Given the description of an element on the screen output the (x, y) to click on. 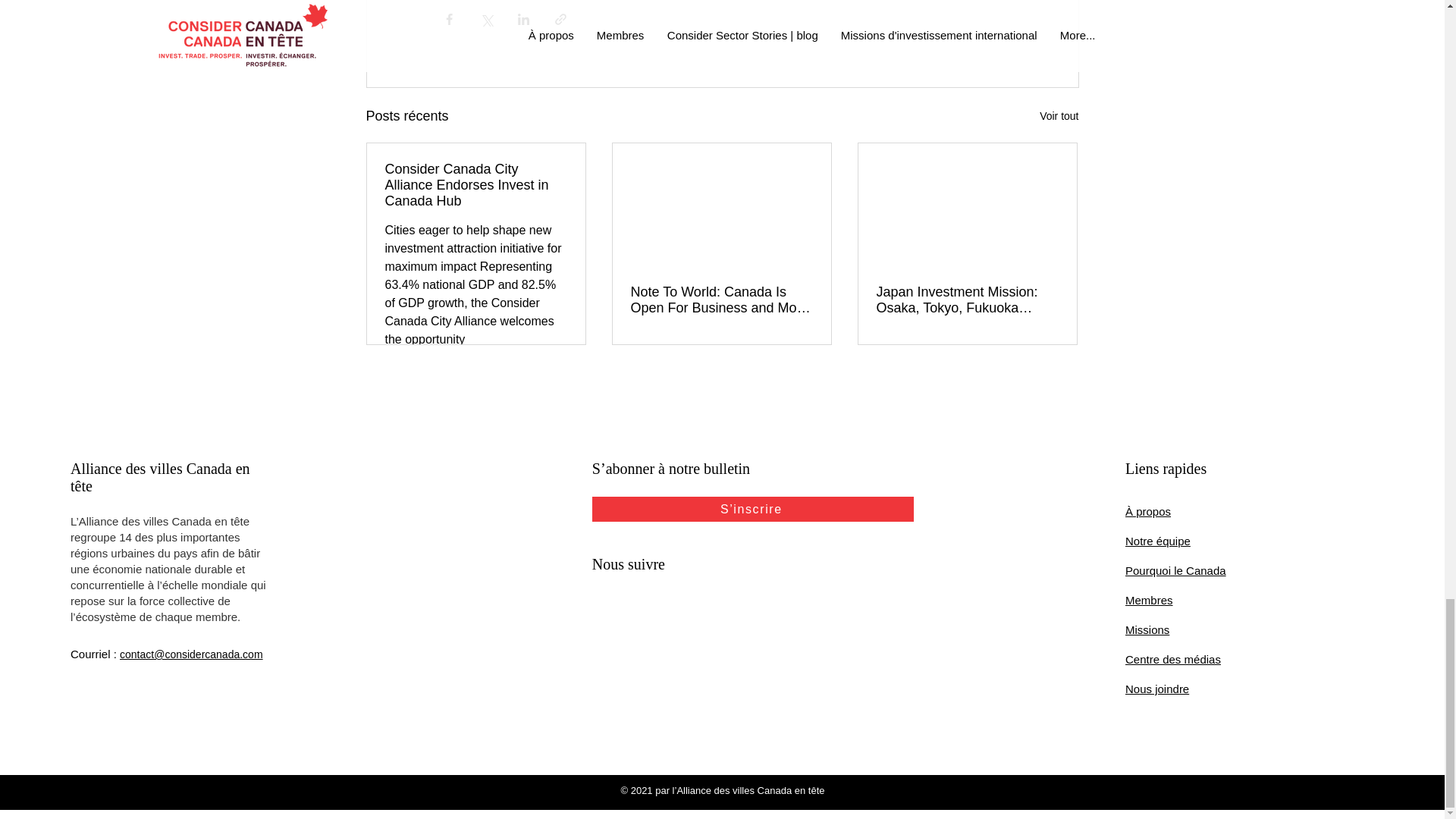
Voir tout (1058, 116)
Nous joindre (1157, 688)
Membres (1149, 599)
Consider Canada City Alliance Endorses Invest in Canada Hub (476, 185)
Pourquoi le Canada (1175, 570)
Missions (1147, 629)
